Given the description of an element on the screen output the (x, y) to click on. 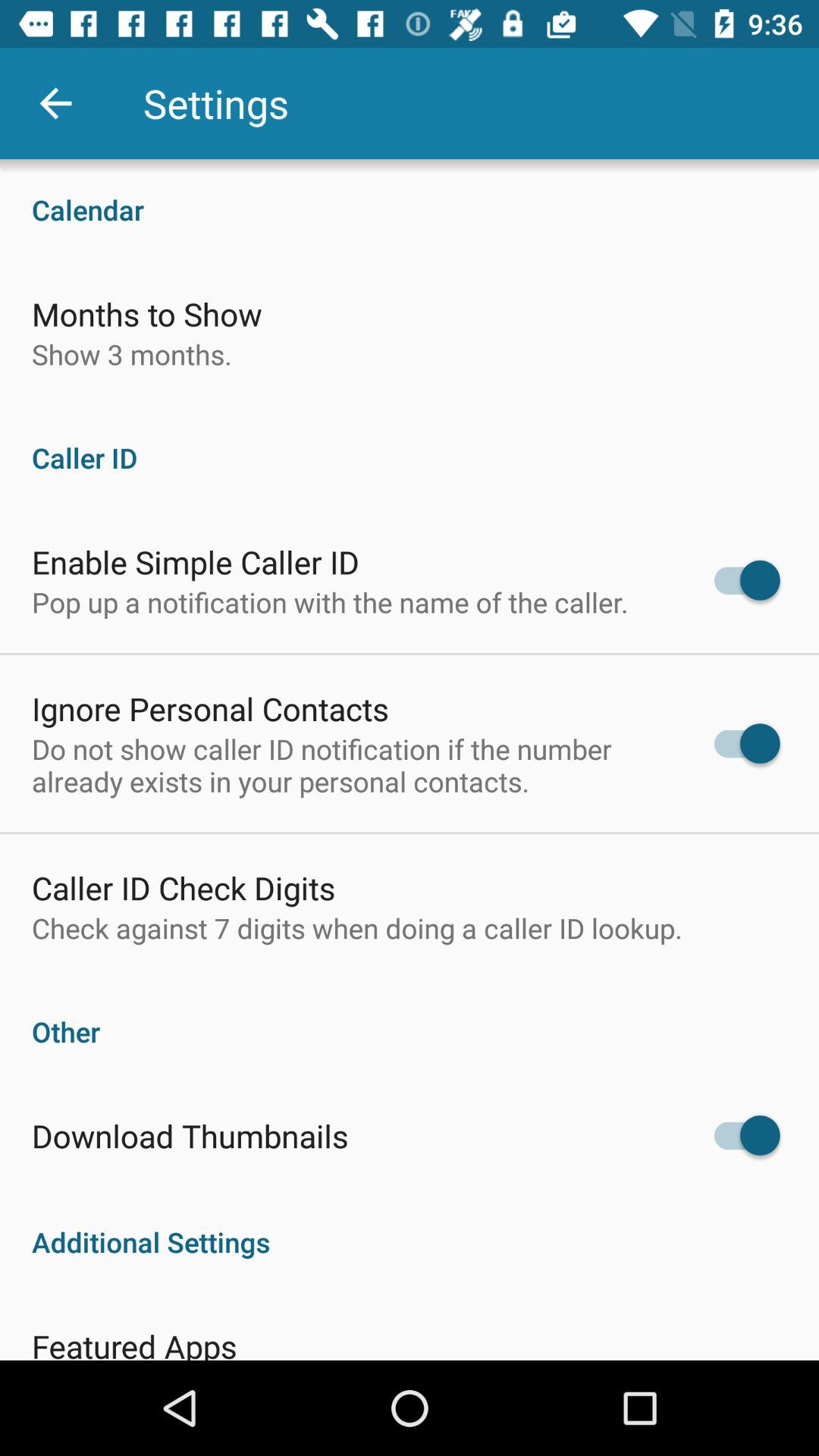
tap item next to the settings app (55, 103)
